Given the description of an element on the screen output the (x, y) to click on. 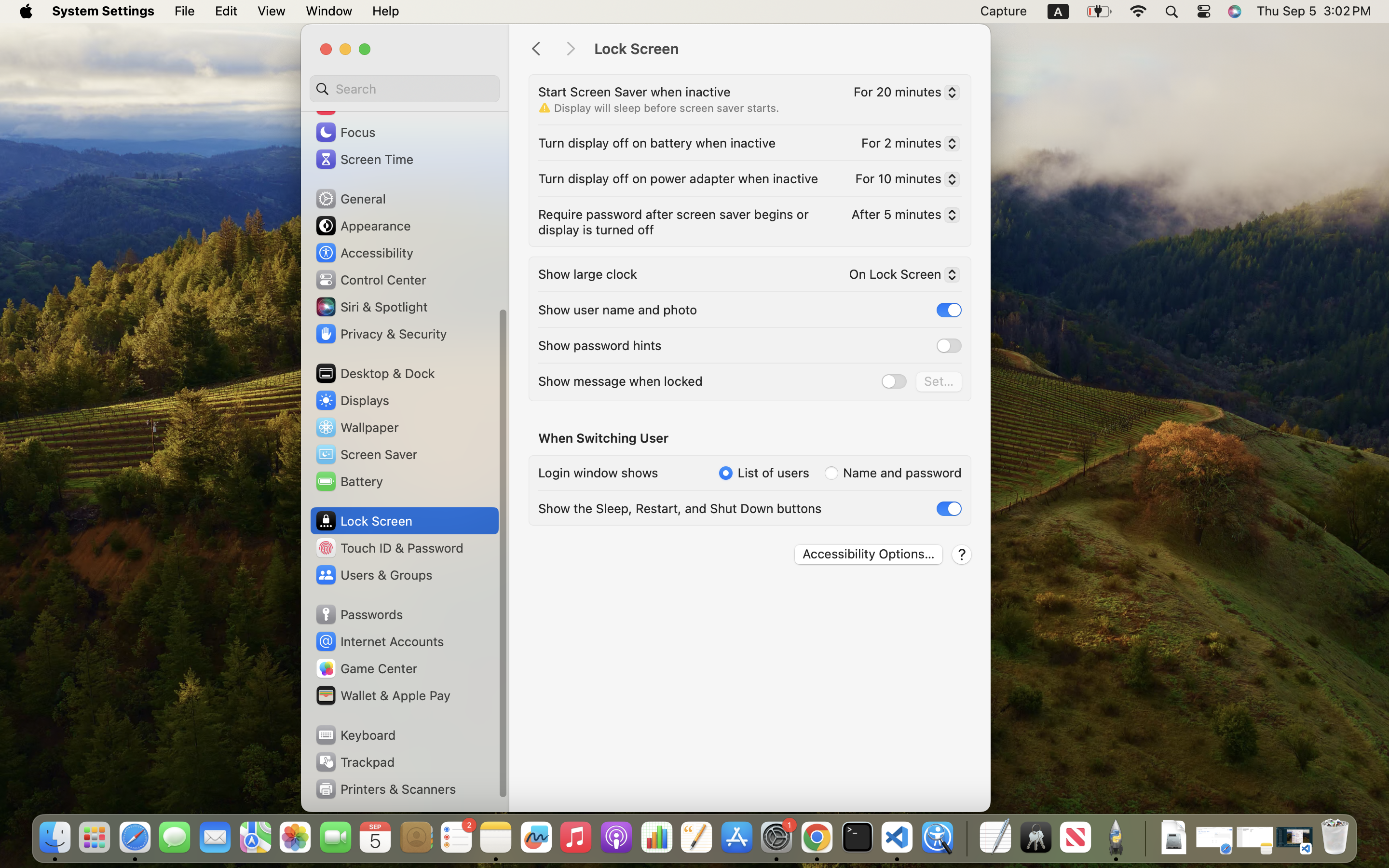
Screen Saver Element type: AXStaticText (365, 453)
Show password hints Element type: AXStaticText (599, 344)
Login window shows Element type: AXStaticText (597, 472)
Show large clock Element type: AXStaticText (587, 273)
Show the Sleep, Restart, and Shut Down buttons Element type: AXStaticText (679, 507)
